Given the description of an element on the screen output the (x, y) to click on. 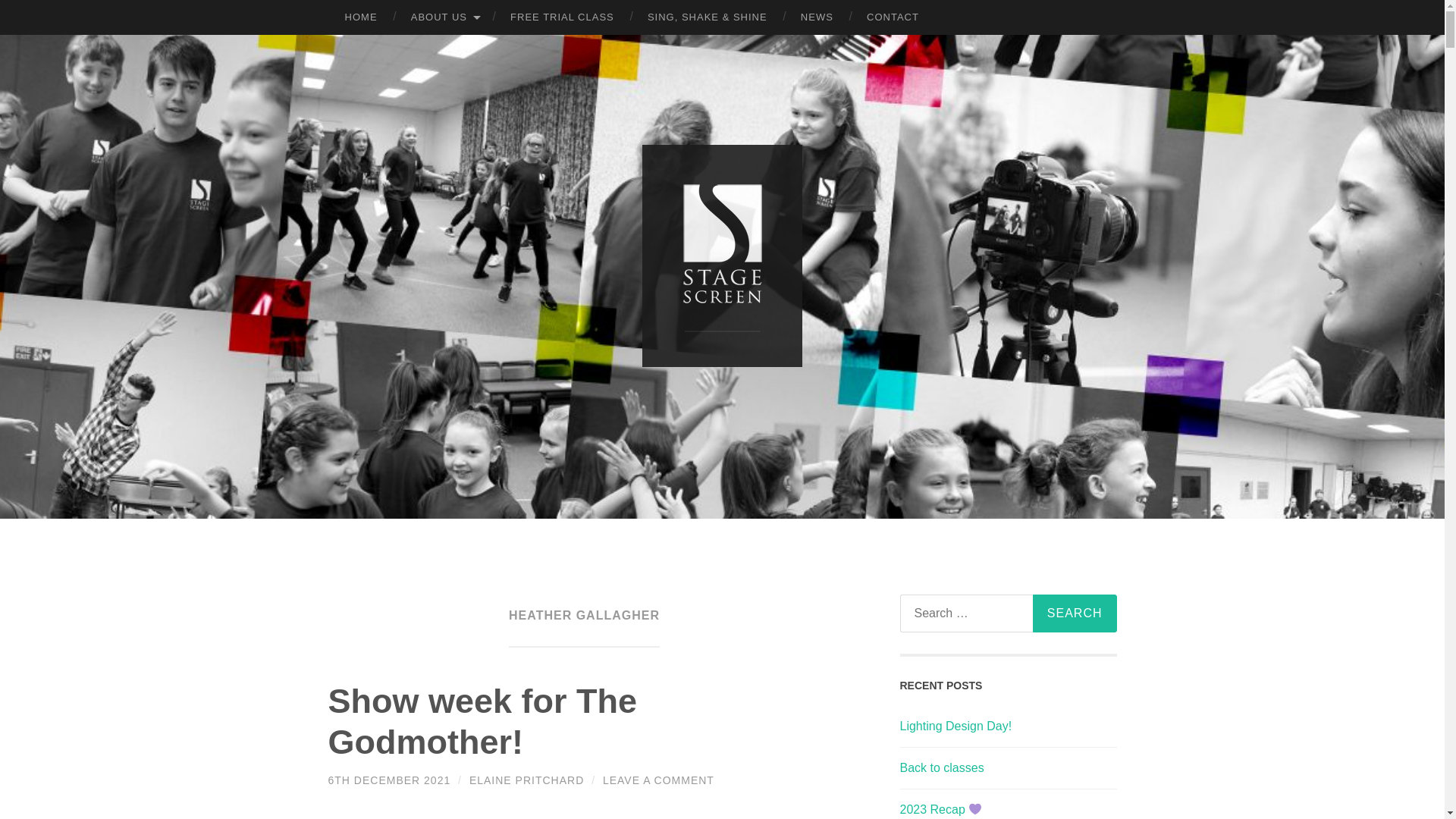
Search (1074, 613)
FREE TRIAL CLASS (561, 17)
NEWS (817, 17)
Show week for The Godmother! (482, 721)
SKIP TO CONTENT (16, 12)
CONTACT (893, 17)
ABOUT US (443, 17)
ELAINE PRITCHARD (525, 779)
LEAVE A COMMENT (658, 779)
Search (1074, 613)
6TH DECEMBER 2021 (388, 779)
HOME (360, 17)
